Given the description of an element on the screen output the (x, y) to click on. 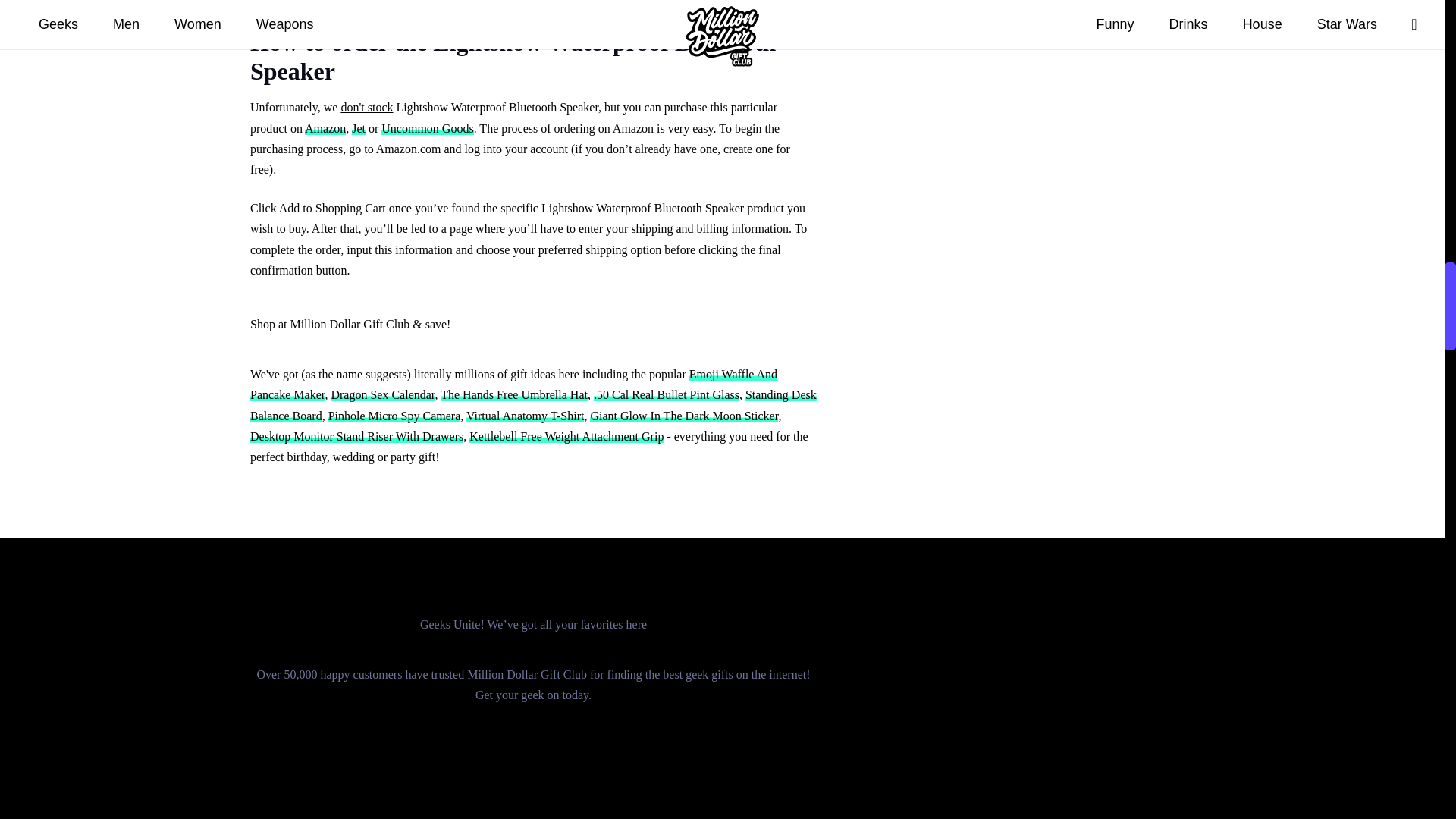
Amazon (325, 128)
Pinhole Micro Spy Camera (395, 415)
.50 Cal Real Bullet Pint Glass (666, 394)
The Hands Free Umbrella Hat (514, 394)
Virtual Anatomy T-Shirt (524, 415)
Uncommon Goods (427, 128)
Jet (358, 128)
Standing Desk Balance Board (533, 404)
Emoji Waffle And Pancake Maker (513, 384)
Dragon Sex Calendar (381, 394)
